Given the description of an element on the screen output the (x, y) to click on. 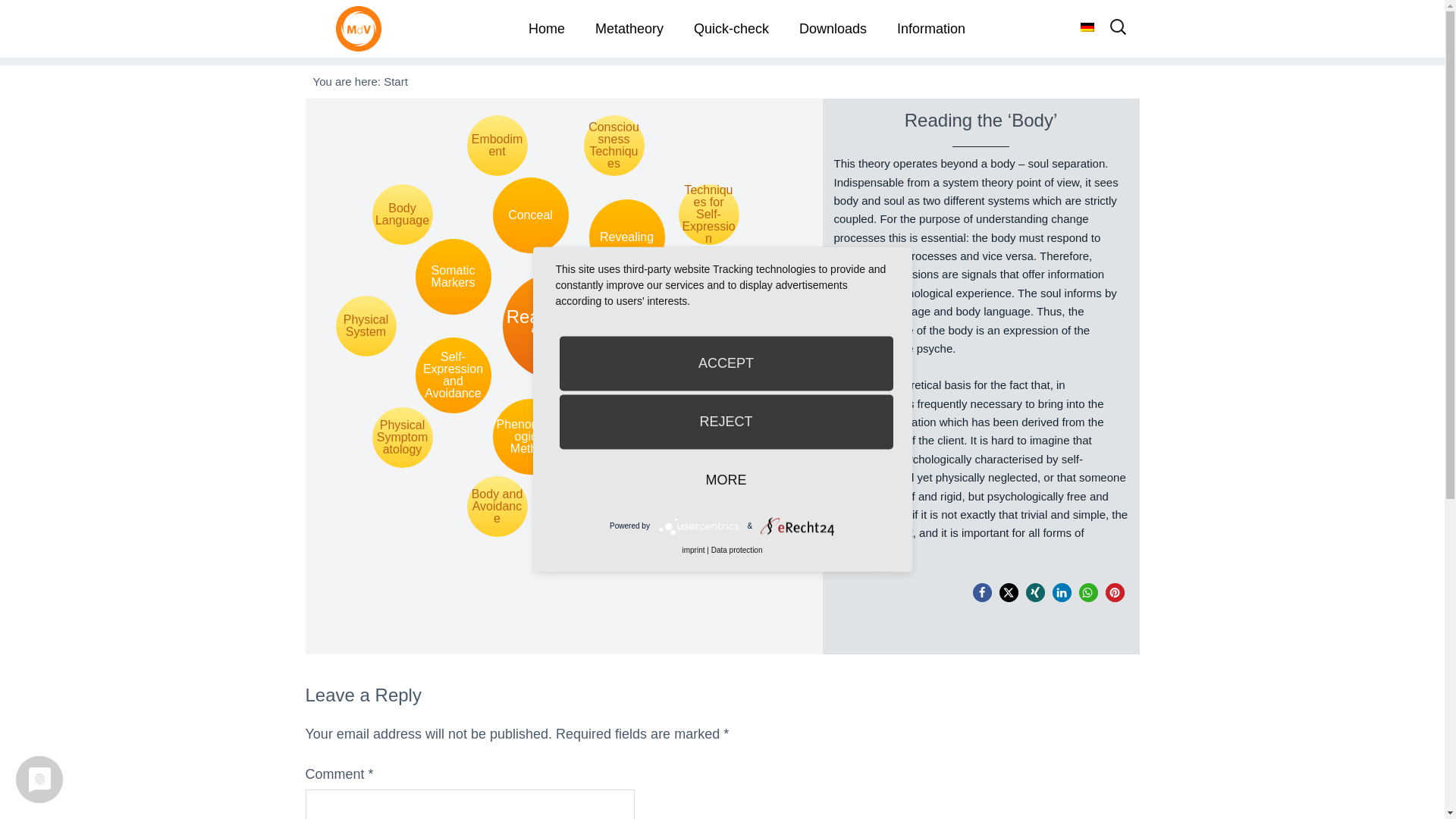
Function of Self-Expression (744, 325)
Metatheory (628, 28)
Downloads (833, 28)
Home (546, 28)
Kinaesthesia (708, 437)
Search for: (1118, 31)
Quick-check (731, 28)
Information (930, 28)
